Given the description of an element on the screen output the (x, y) to click on. 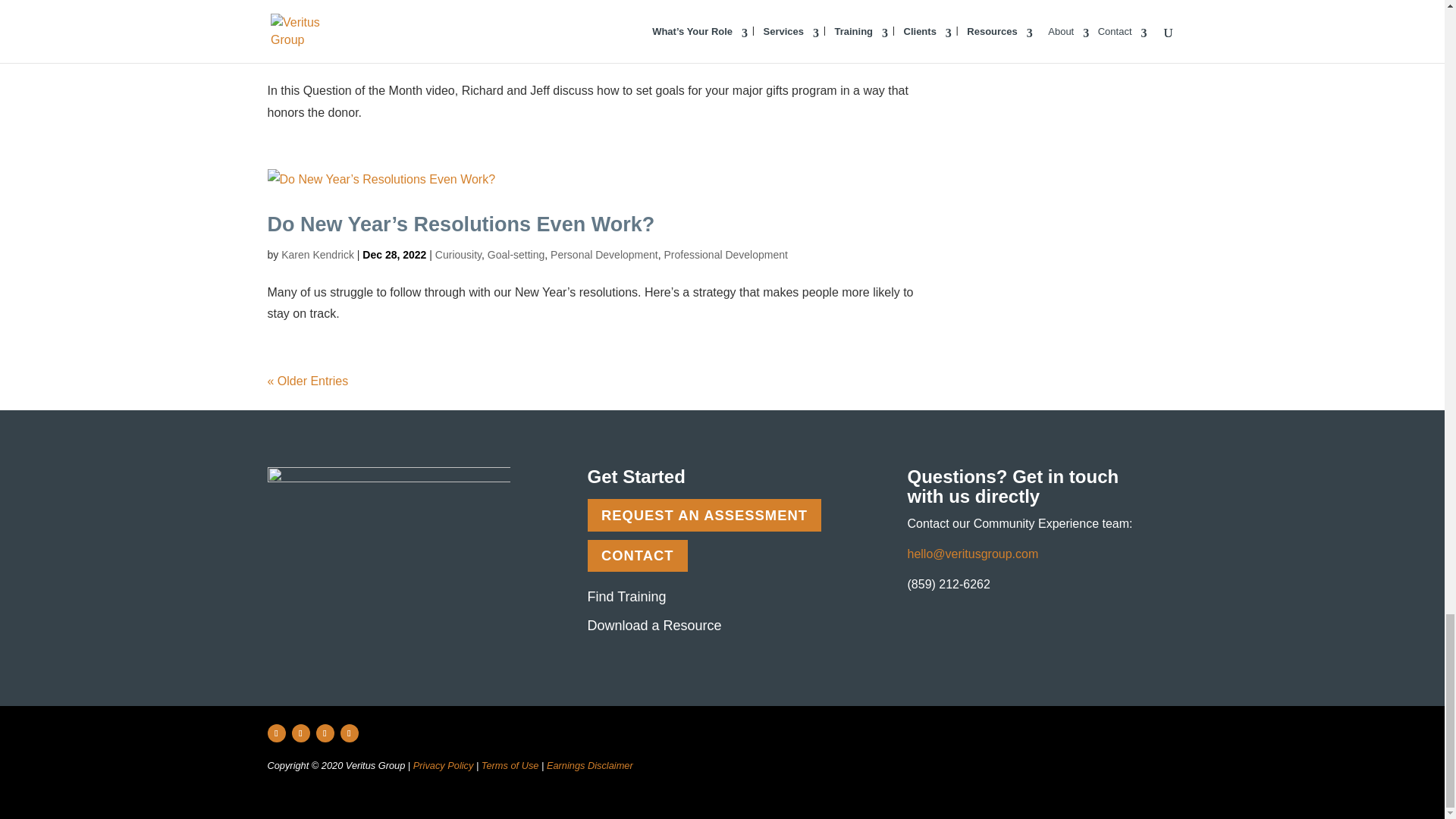
veritus-group-footer-logo (387, 502)
Posts by Karen Kendrick (317, 254)
Follow on Youtube (348, 732)
Follow on LinkedIn (324, 732)
Follow on X (299, 732)
Follow on Facebook (275, 732)
Posts by Veritus Group (313, 52)
